Given the description of an element on the screen output the (x, y) to click on. 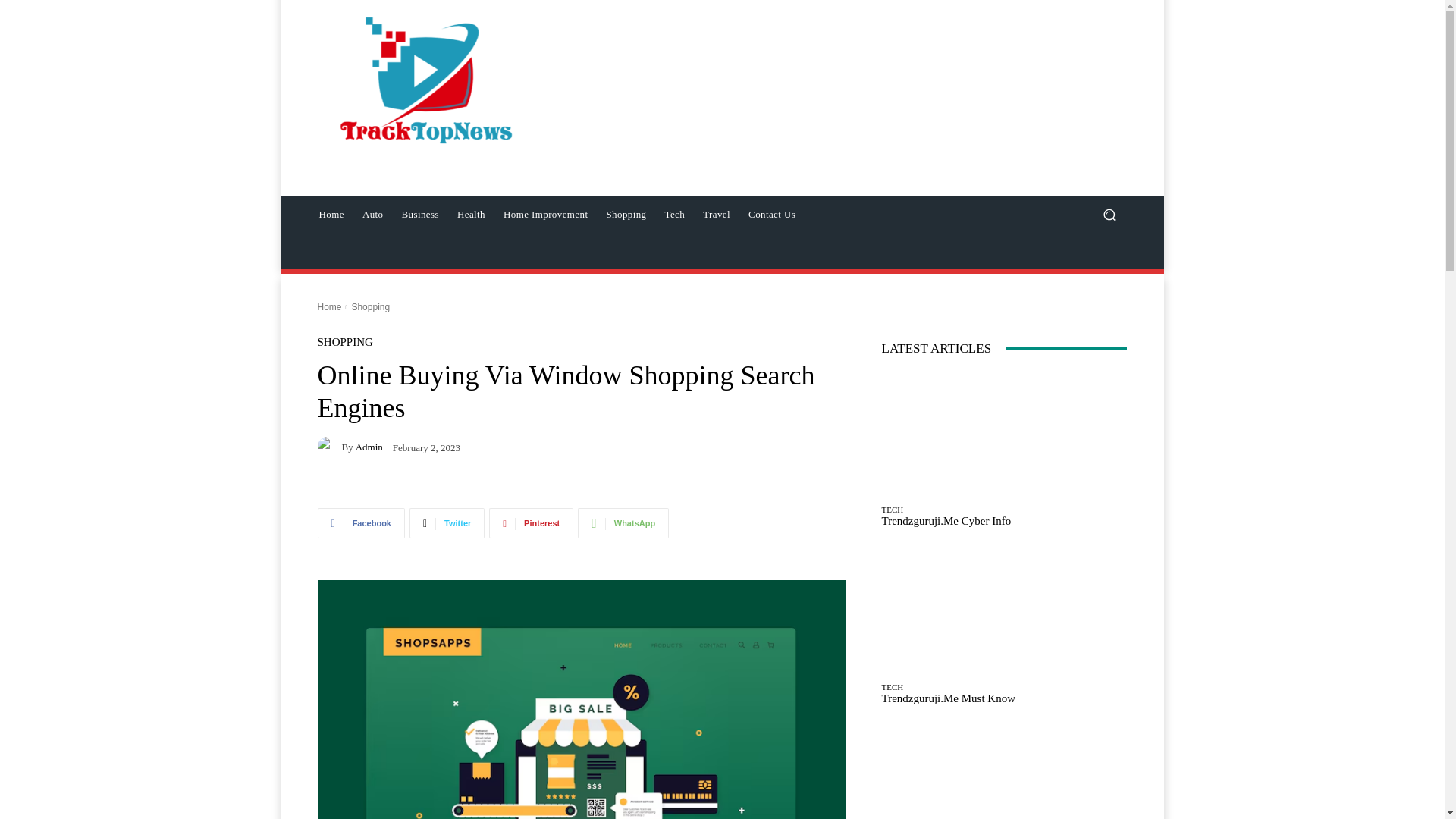
View all posts in Shopping (370, 307)
Home (328, 307)
Facebook (360, 522)
Auto (373, 214)
Shopping (370, 307)
Shopping (625, 214)
Home Improvement (545, 214)
WhatsApp (623, 522)
Twitter (446, 522)
Contact Us (772, 214)
Pinterest (531, 522)
Health (471, 214)
Tech (674, 214)
admin (328, 446)
Home (330, 214)
